Given the description of an element on the screen output the (x, y) to click on. 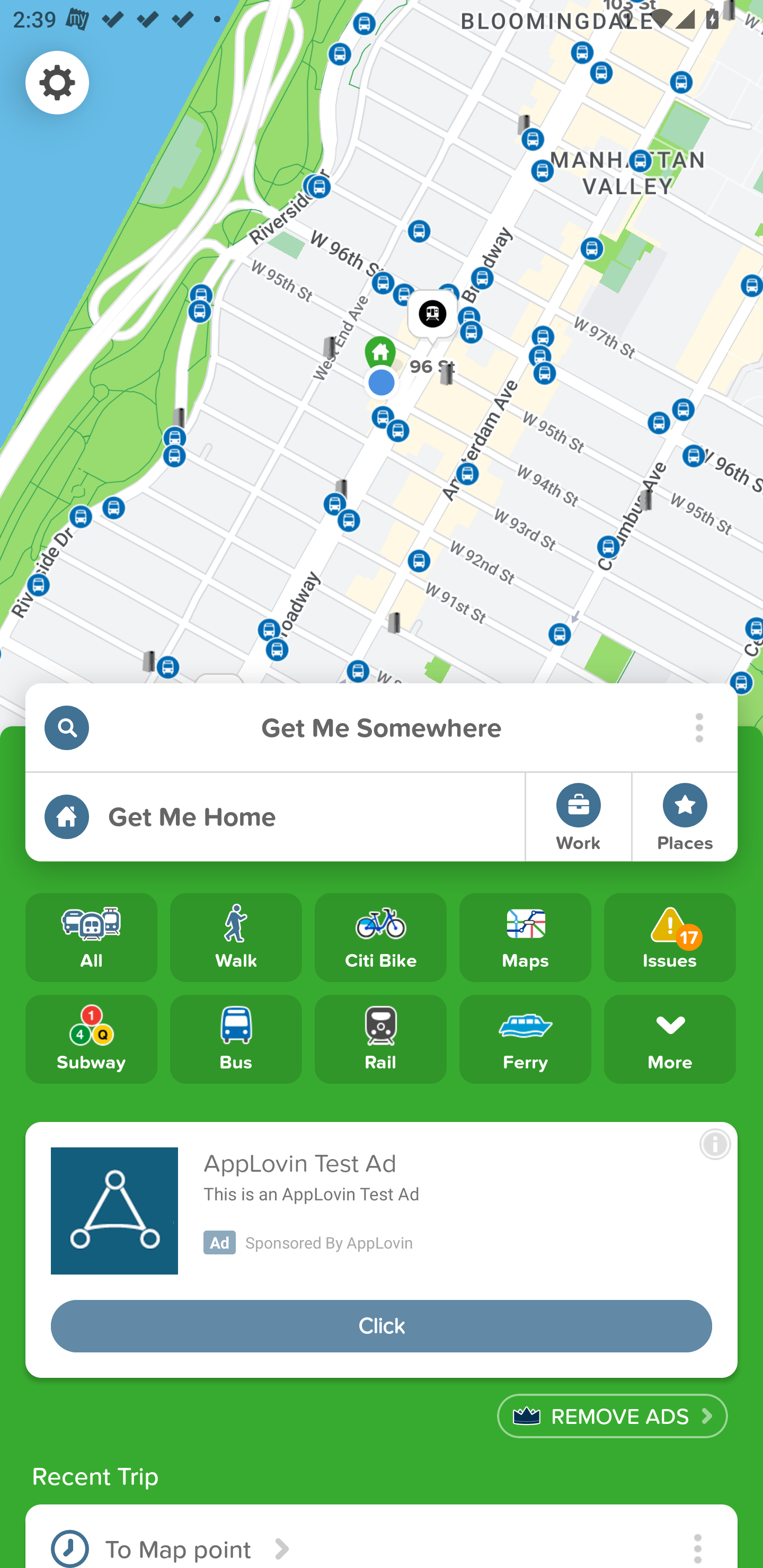
More (670, 1038)
